Given the description of an element on the screen output the (x, y) to click on. 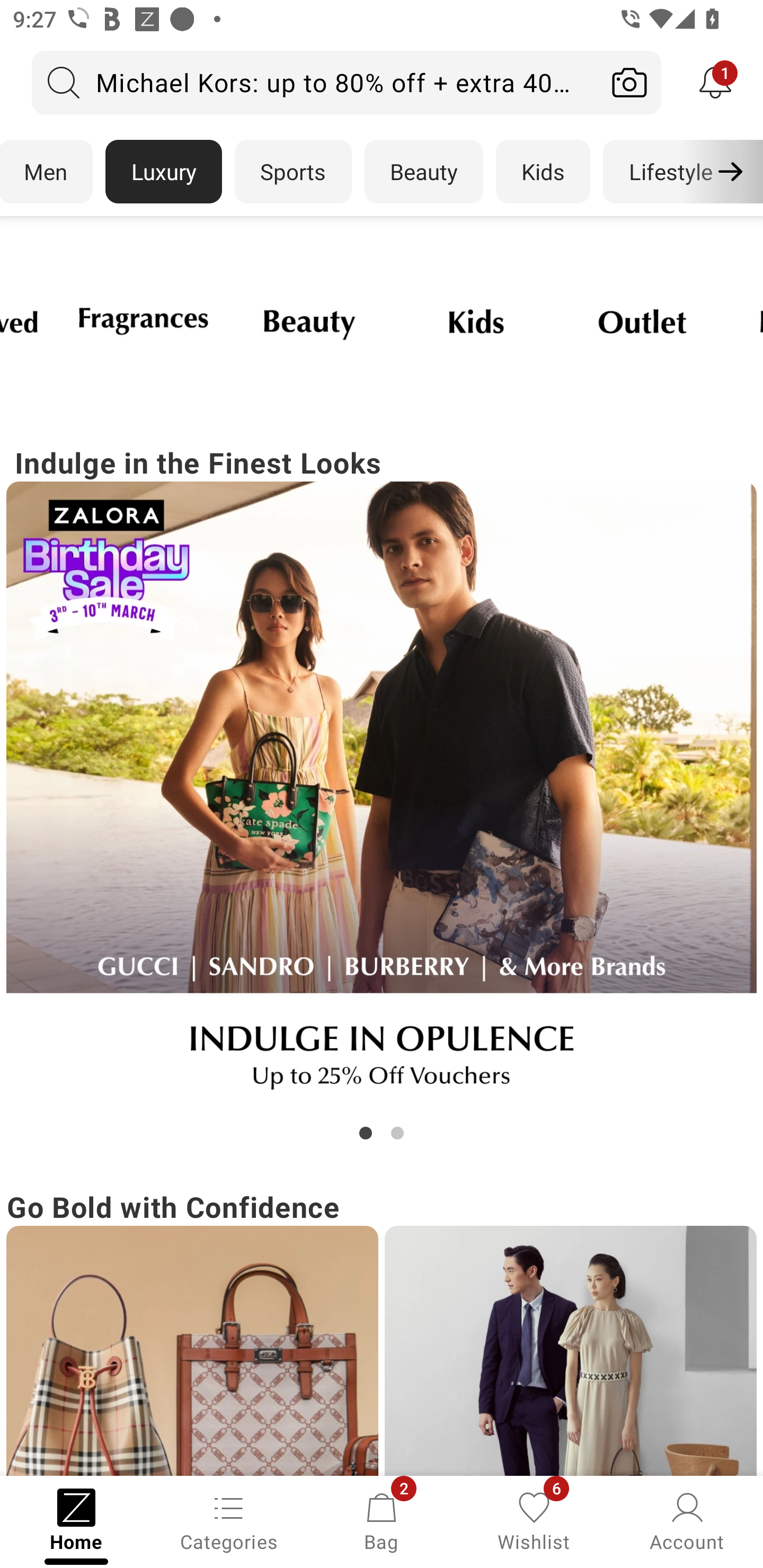
Michael Kors: up to 80% off + extra 40% off (314, 82)
Men (46, 171)
Luxury (163, 171)
Sports (293, 171)
Beauty (423, 171)
Kids (542, 171)
Lifestyle (669, 171)
Campaign banner (143, 321)
Campaign banner (309, 321)
Campaign banner (476, 321)
Campaign banner (642, 321)
 Indulge in the Finest Looks Campaign banner (381, 792)
Campaign banner (381, 797)
Campaign banner (192, 1350)
Campaign banner (570, 1350)
Categories (228, 1519)
Bag, 2 new notifications Bag (381, 1519)
Wishlist, 6 new notifications Wishlist (533, 1519)
Account (686, 1519)
